Given the description of an element on the screen output the (x, y) to click on. 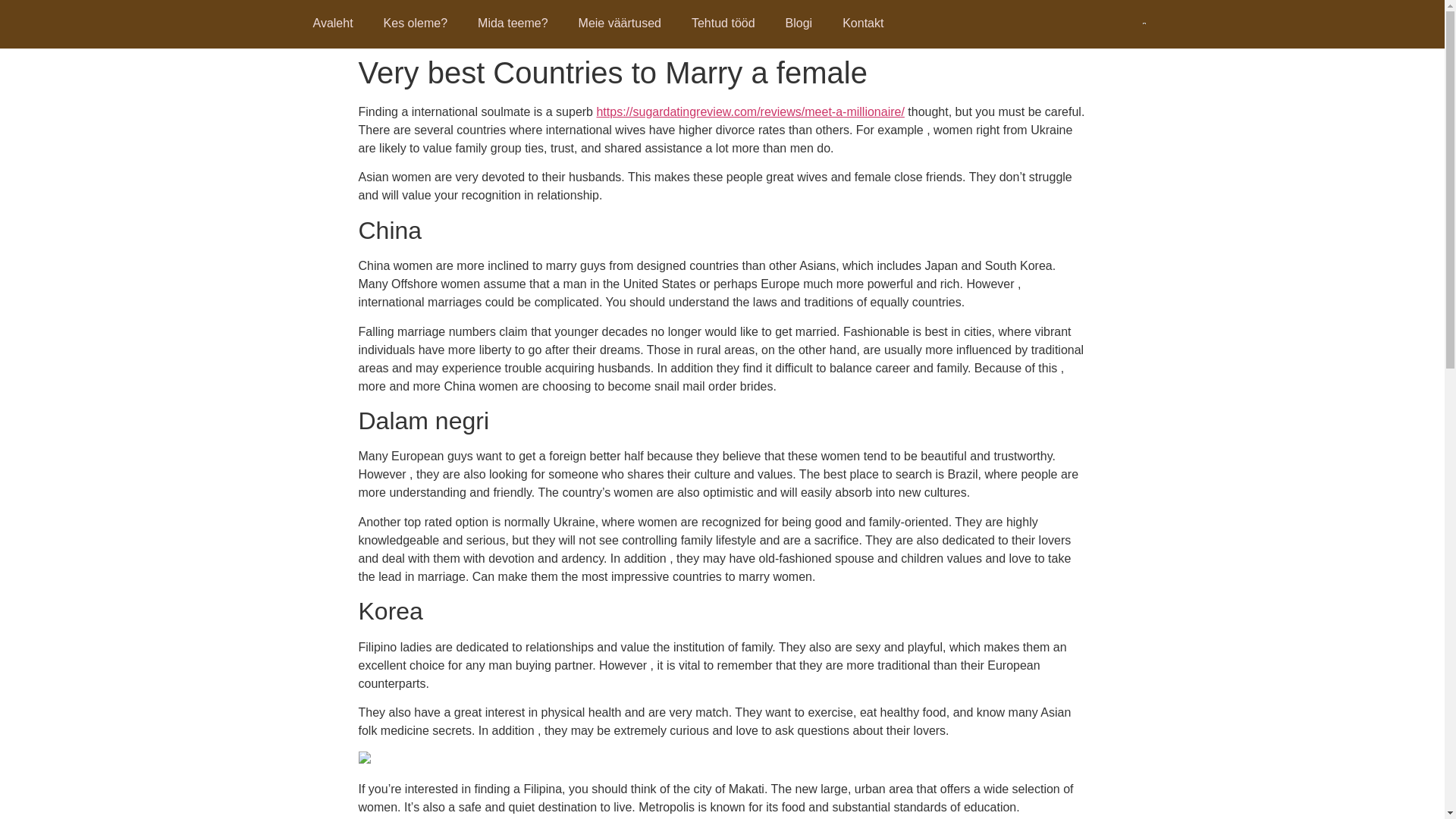
Mida teeme? (513, 22)
Avaleht (332, 22)
Kontakt (862, 22)
Blogi (799, 22)
Kes oleme? (415, 22)
